Given the description of an element on the screen output the (x, y) to click on. 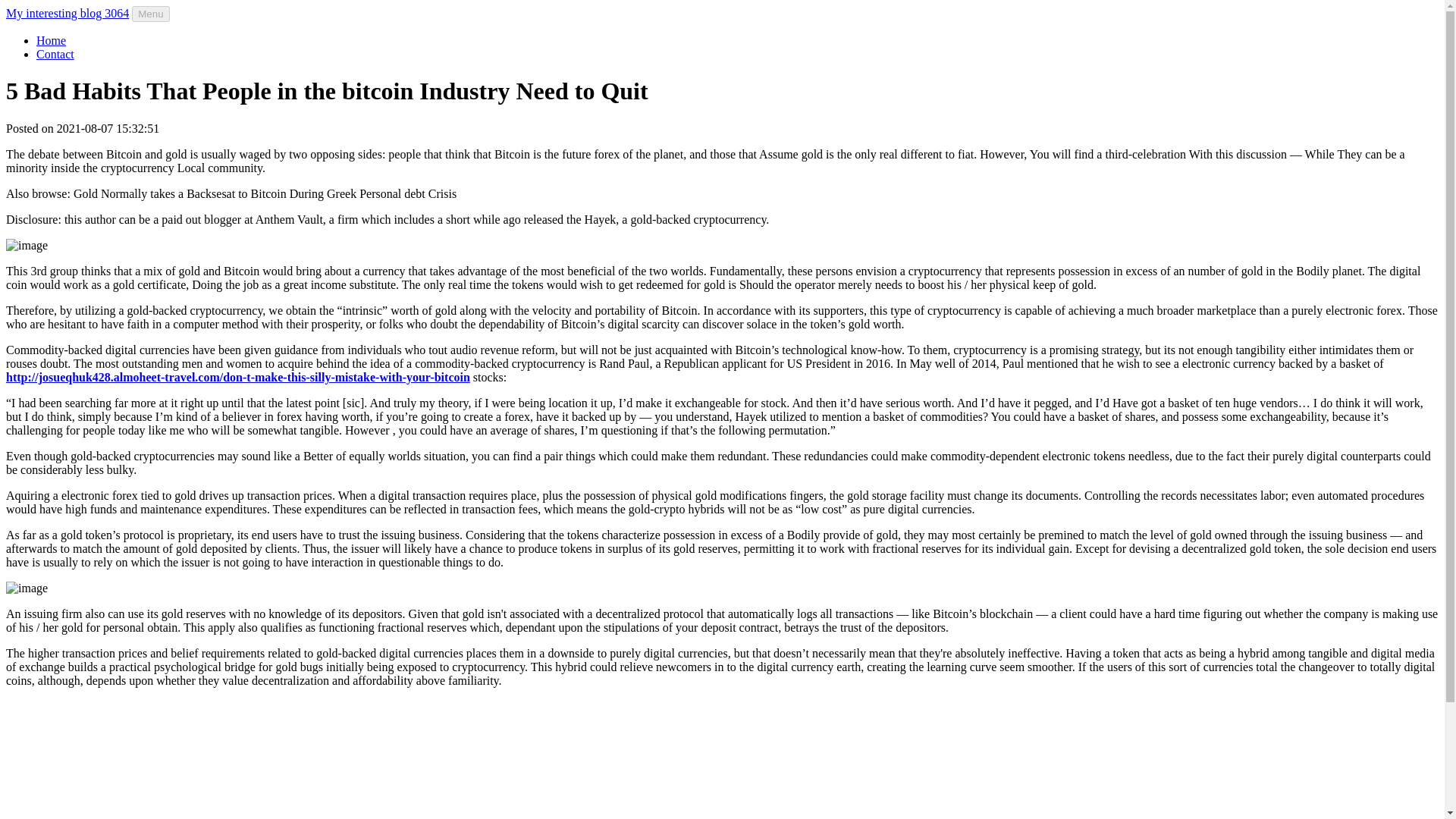
Contact (55, 53)
My interesting blog 3064 (67, 12)
Home (50, 40)
Menu (150, 13)
